Given the description of an element on the screen output the (x, y) to click on. 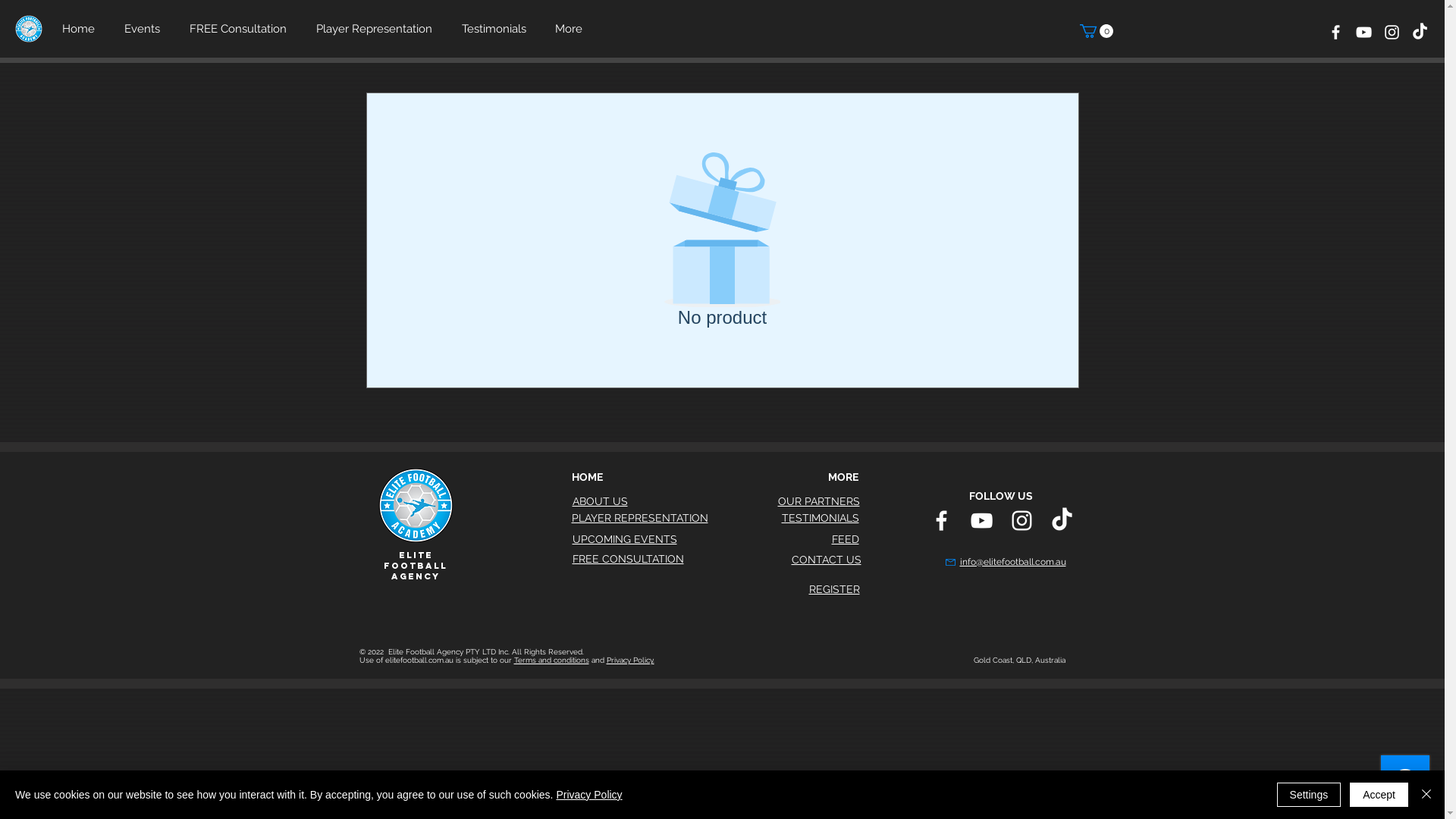
Terms and conditions Element type: text (551, 659)
info@elitefootball.com.au Element type: text (1013, 561)
PLAYER REPRESENTATION Element type: text (639, 517)
Privacy Policy. Element type: text (630, 659)
Home Element type: text (81, 28)
REGISTER Element type: text (833, 589)
Events Element type: text (145, 28)
OUR PARTNERS Element type: text (818, 501)
Player Representation Element type: text (377, 28)
Testimonials Element type: text (496, 28)
FREE CONSULTATION Element type: text (627, 558)
0 Element type: text (1096, 30)
TESTIMONIALS Element type: text (819, 517)
ABOUT US Element type: text (599, 501)
Settings Element type: text (1309, 794)
CONTACT US Element type: text (826, 559)
Accept Element type: text (1378, 794)
UPCOMING EVENTS Element type: text (623, 539)
Privacy Policy Element type: text (588, 794)
FREE Consultation Element type: text (241, 28)
FEED Element type: text (844, 539)
